Given the description of an element on the screen output the (x, y) to click on. 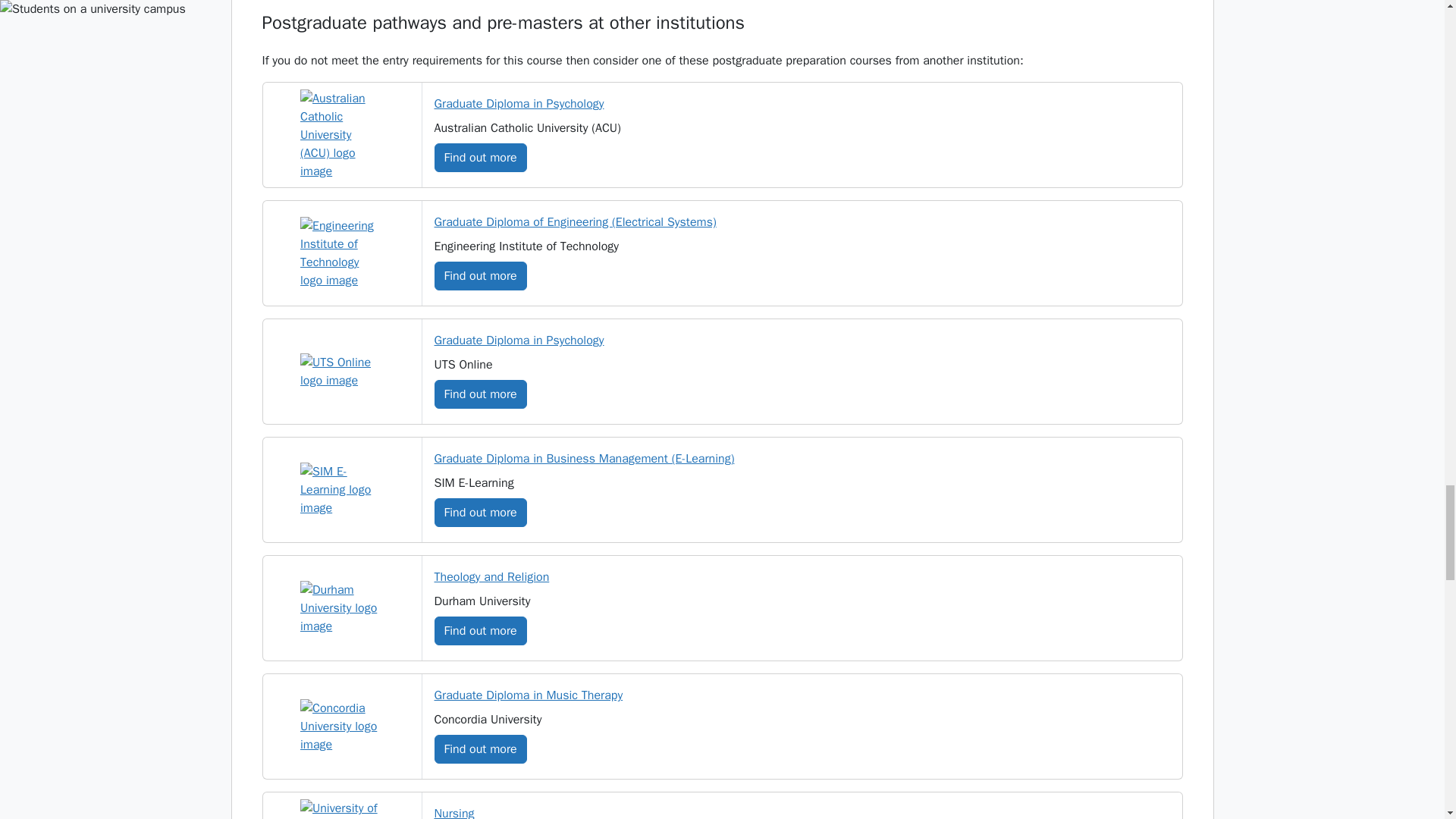
SIM E-Learning (341, 489)
UTS Online (341, 370)
Engineering Institute of Technology (341, 253)
Concordia University (341, 726)
Durham University (341, 607)
